Given the description of an element on the screen output the (x, y) to click on. 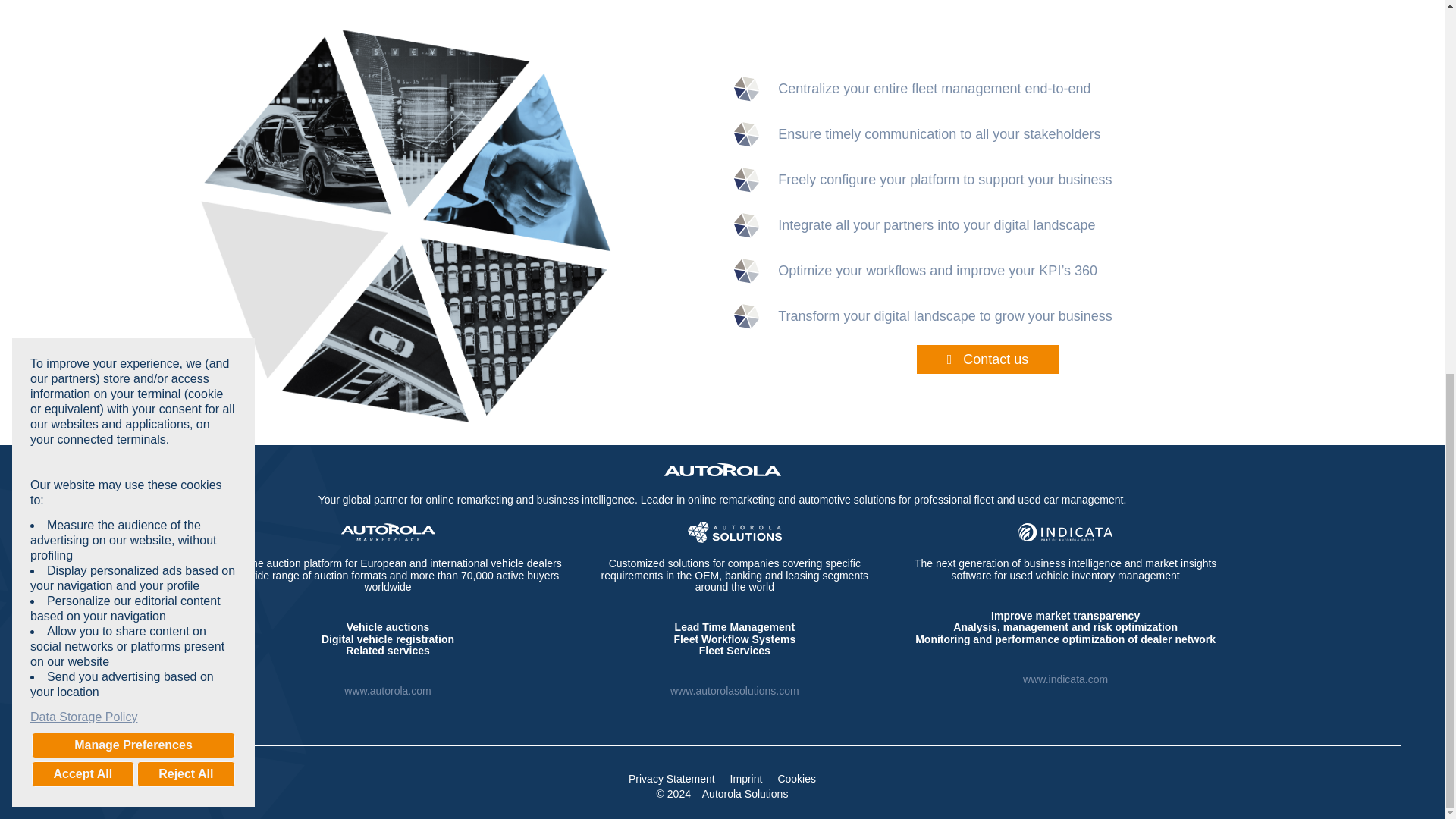
Reject All (185, 89)
Data Storage Policy (132, 32)
Manage Preferences (133, 61)
Accept All (82, 89)
